Given the description of an element on the screen output the (x, y) to click on. 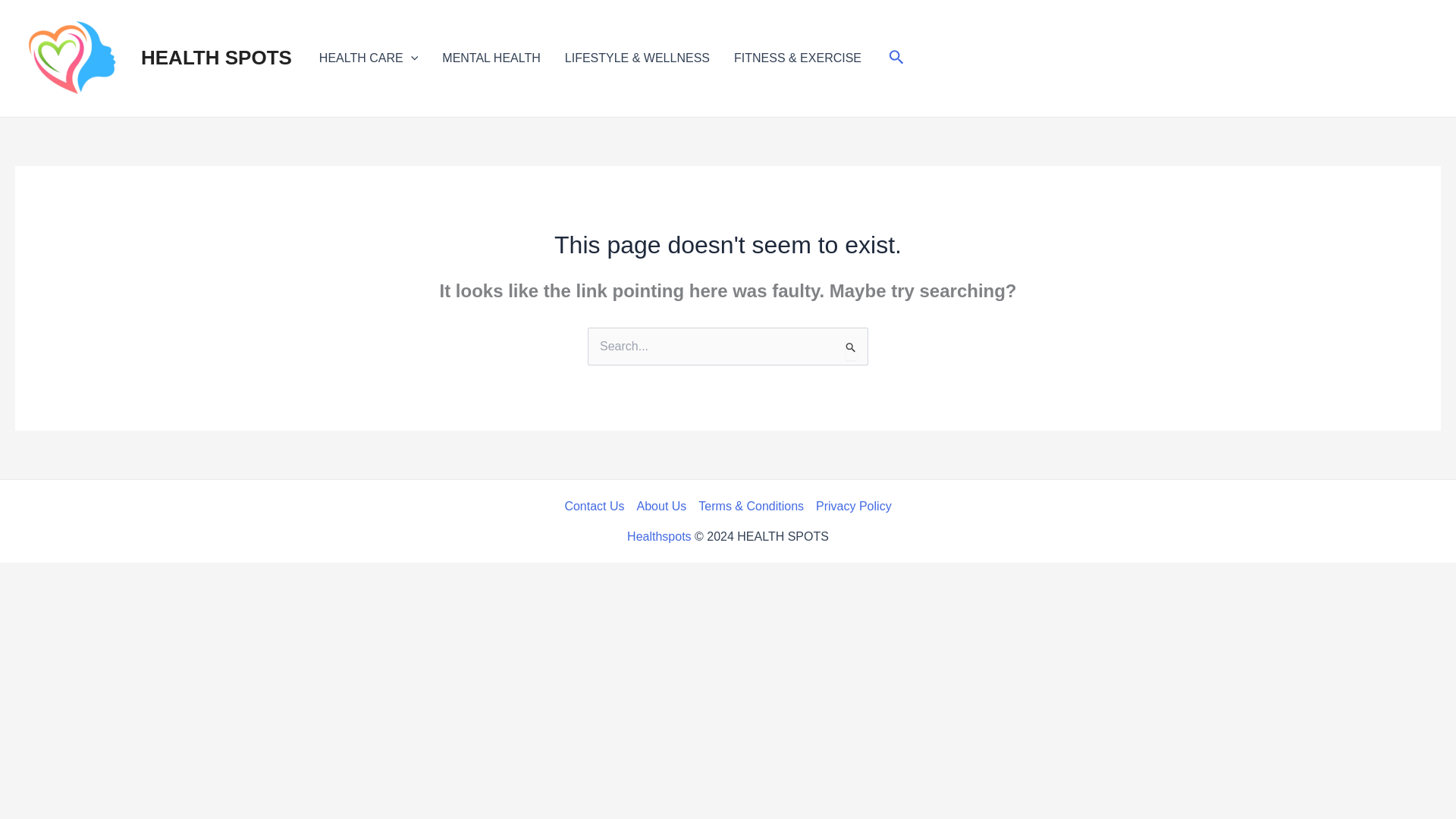
Privacy Policy (850, 506)
About Us (661, 506)
HEALTH SPOTS (216, 56)
Contact Us (597, 506)
Search (850, 348)
MENTAL HEALTH (491, 57)
Healthspots (659, 535)
HEALTH CARE (368, 57)
Search (850, 348)
Search (896, 58)
Search (850, 348)
